Given the description of an element on the screen output the (x, y) to click on. 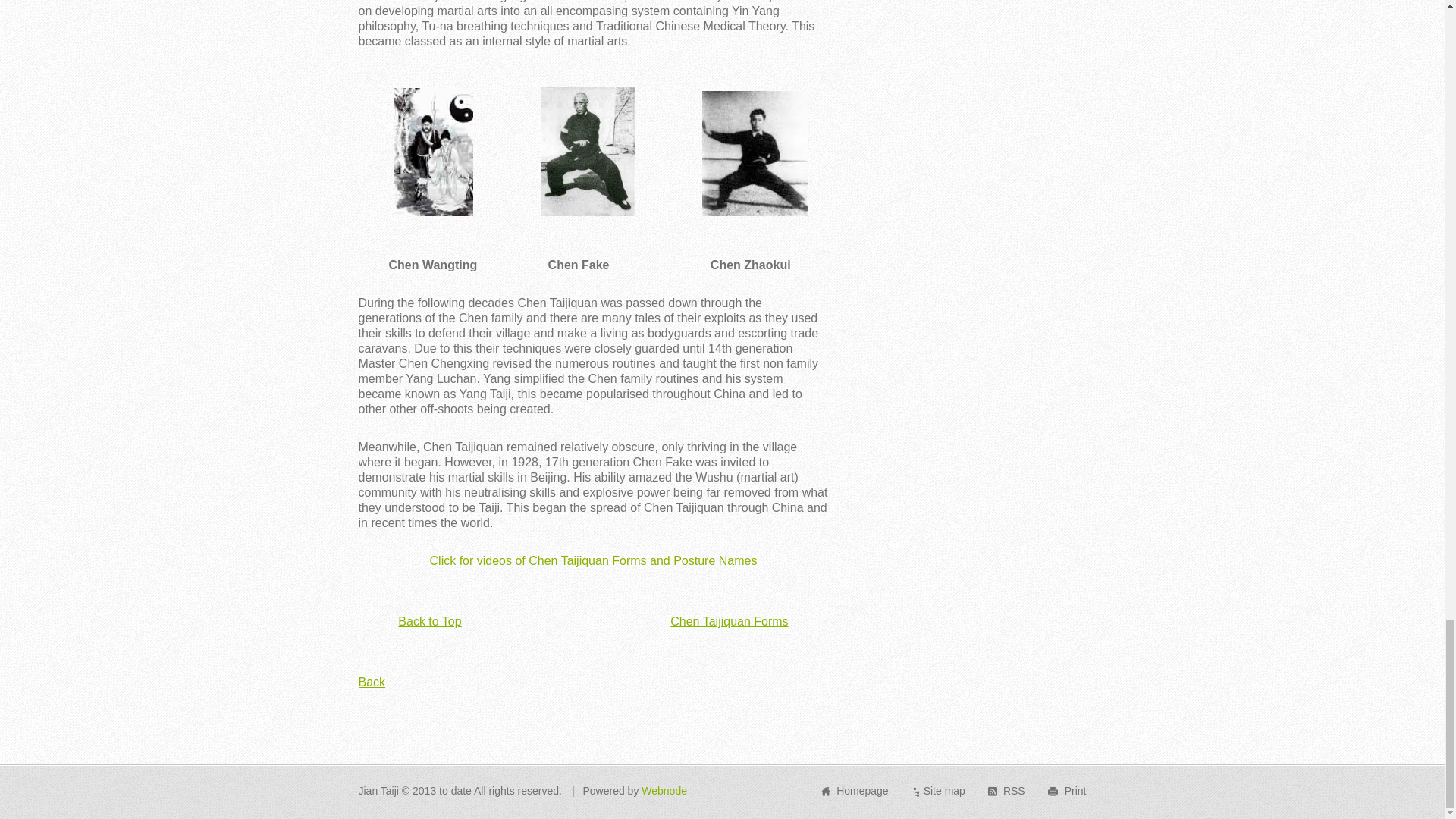
Back to Top (429, 621)
Go to site map. (944, 790)
Back (371, 681)
Chen Taijiquan Forms (728, 621)
Go to Homepage. (861, 790)
RSS Feeds (1014, 790)
Click for videos of Chen Taijiquan Forms and Posture Names (593, 560)
Print page (1075, 790)
